Given the description of an element on the screen output the (x, y) to click on. 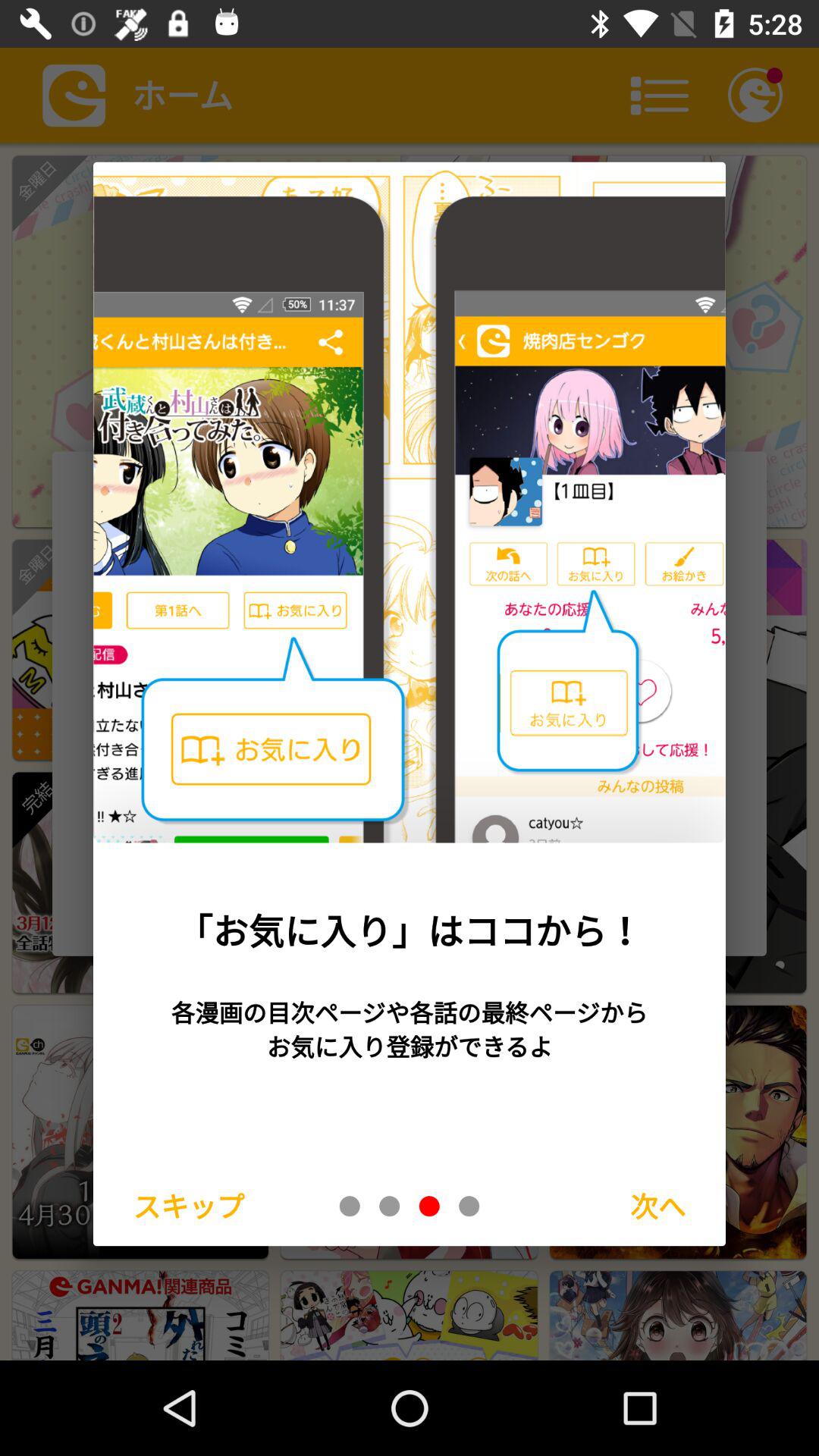
scroll to third page (429, 1206)
